Given the description of an element on the screen output the (x, y) to click on. 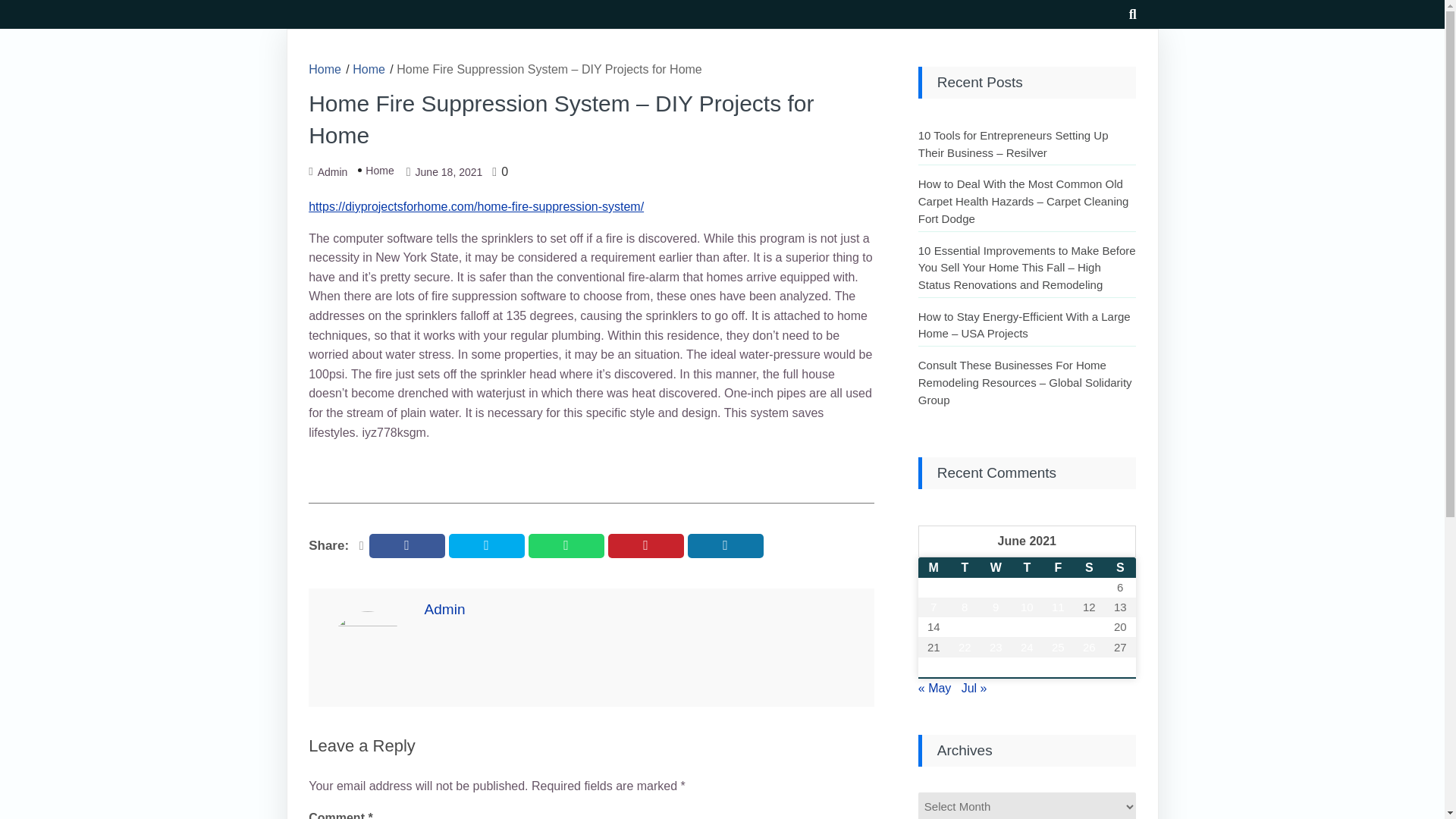
18 (1058, 627)
24 (1026, 647)
facebook (407, 545)
8 (964, 607)
Admin (332, 171)
2 (995, 587)
twitter (486, 545)
Saturday (1089, 567)
Tuesday (964, 567)
11 (1058, 607)
